Given the description of an element on the screen output the (x, y) to click on. 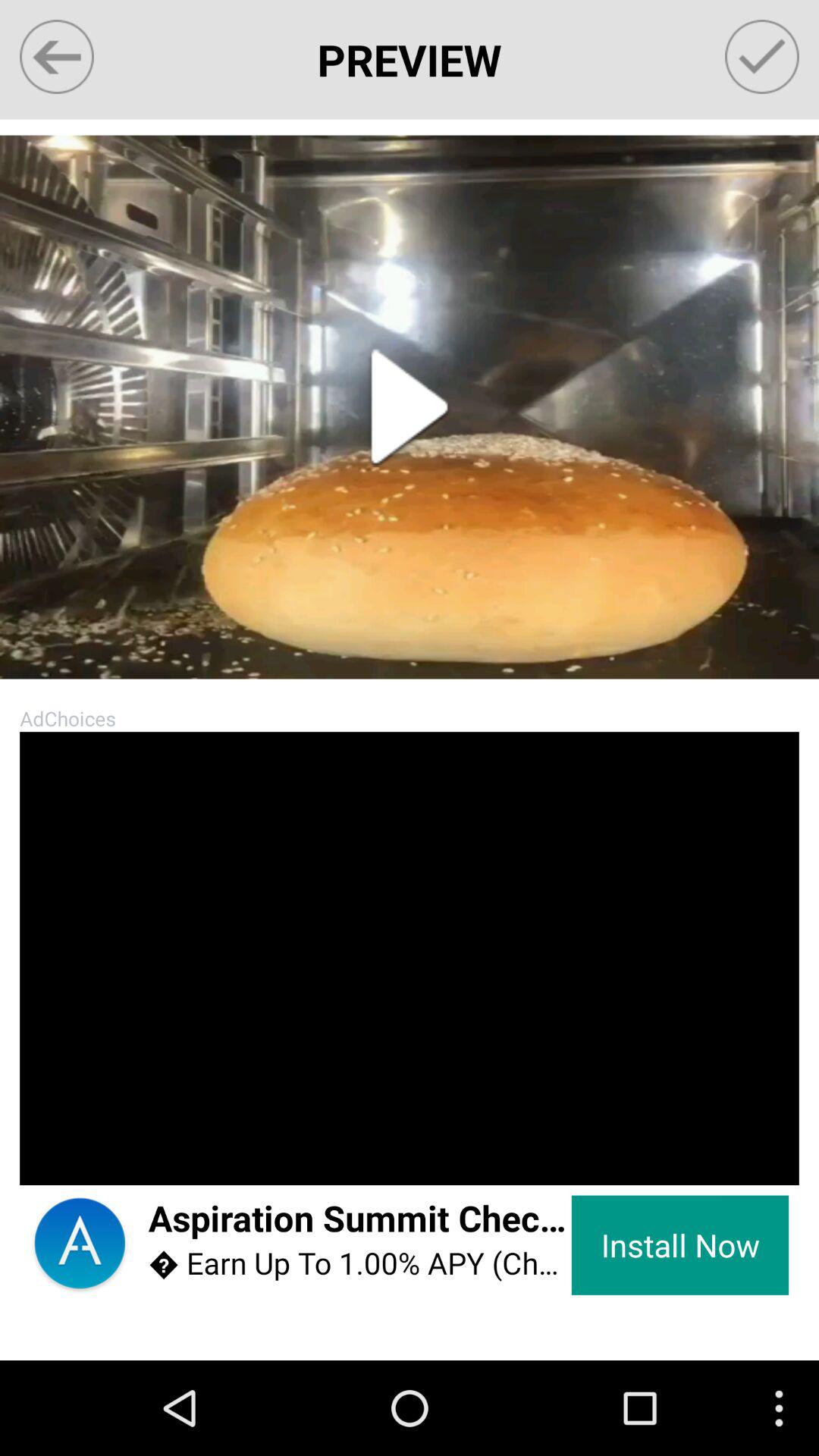
turn off the item next to the install now (359, 1263)
